Given the description of an element on the screen output the (x, y) to click on. 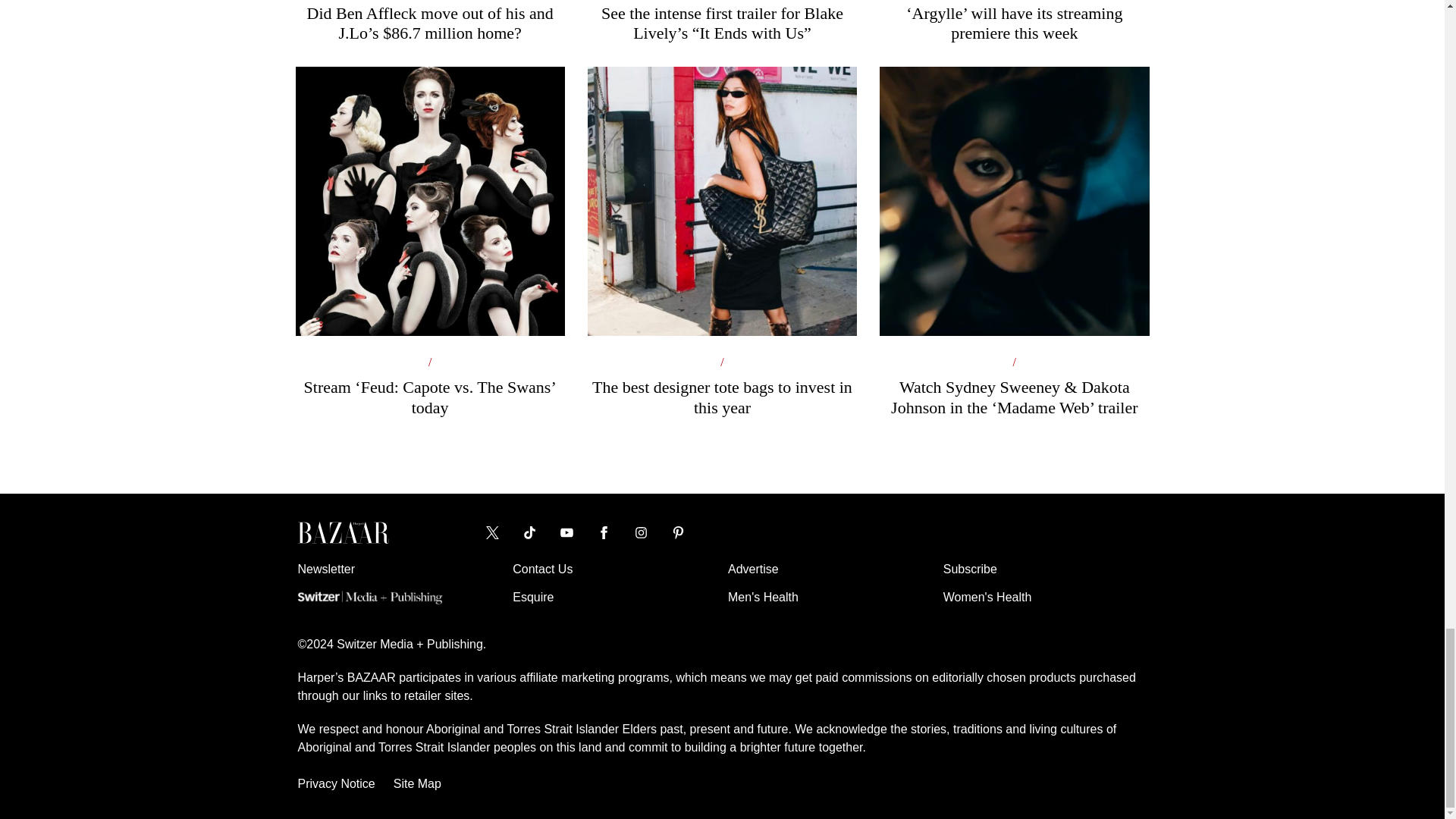
The best designer tote bags to invest in this year (722, 305)
The best designer tote bags to invest in this year (722, 305)
